Given the description of an element on the screen output the (x, y) to click on. 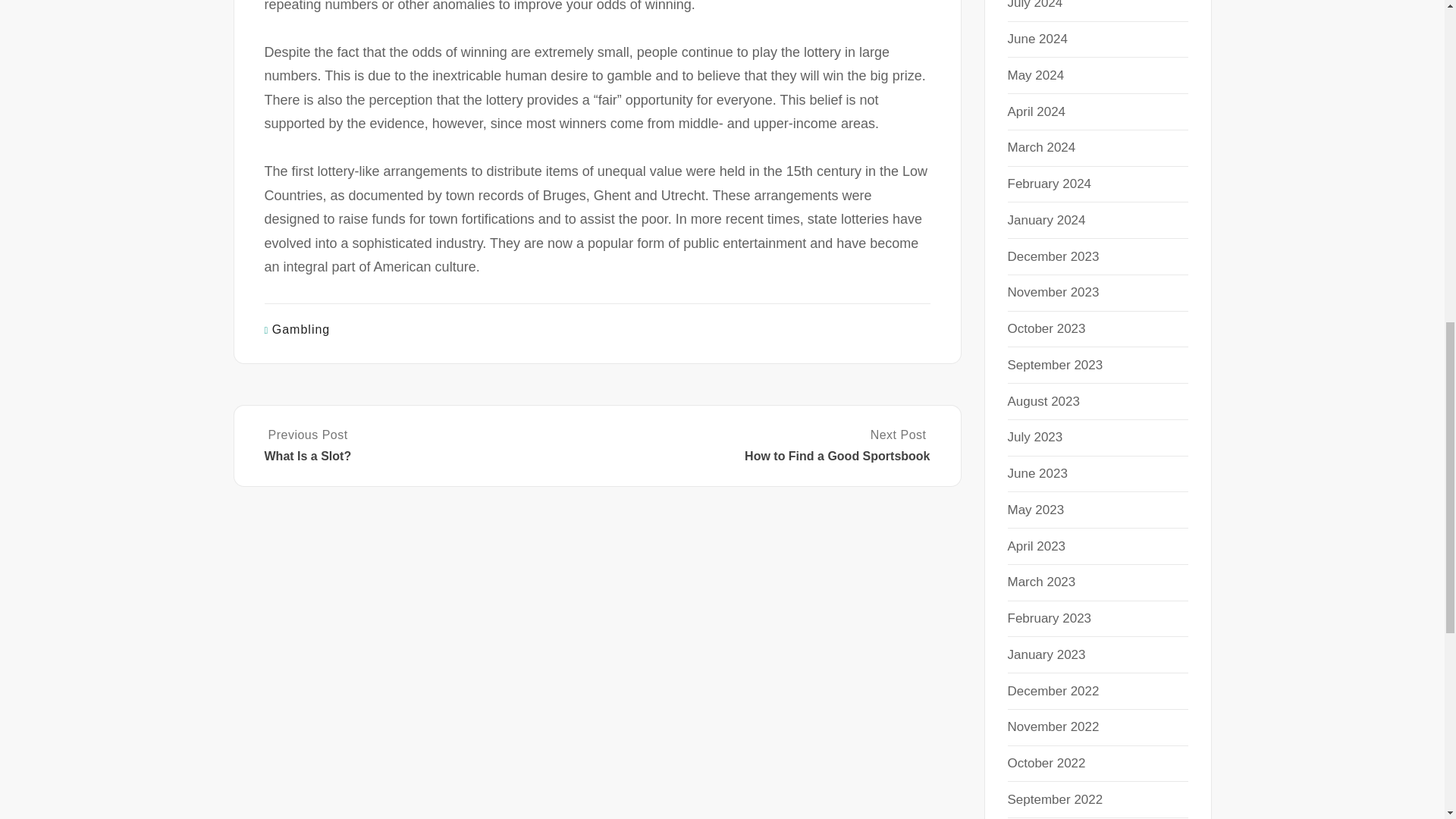
July 2023 (1034, 436)
June 2023 (1037, 473)
September 2023 (1054, 364)
June 2024 (1037, 38)
May 2024 (427, 445)
February 2023 (1035, 74)
November 2023 (1048, 617)
July 2024 (1053, 292)
October 2023 (1034, 4)
